Given the description of an element on the screen output the (x, y) to click on. 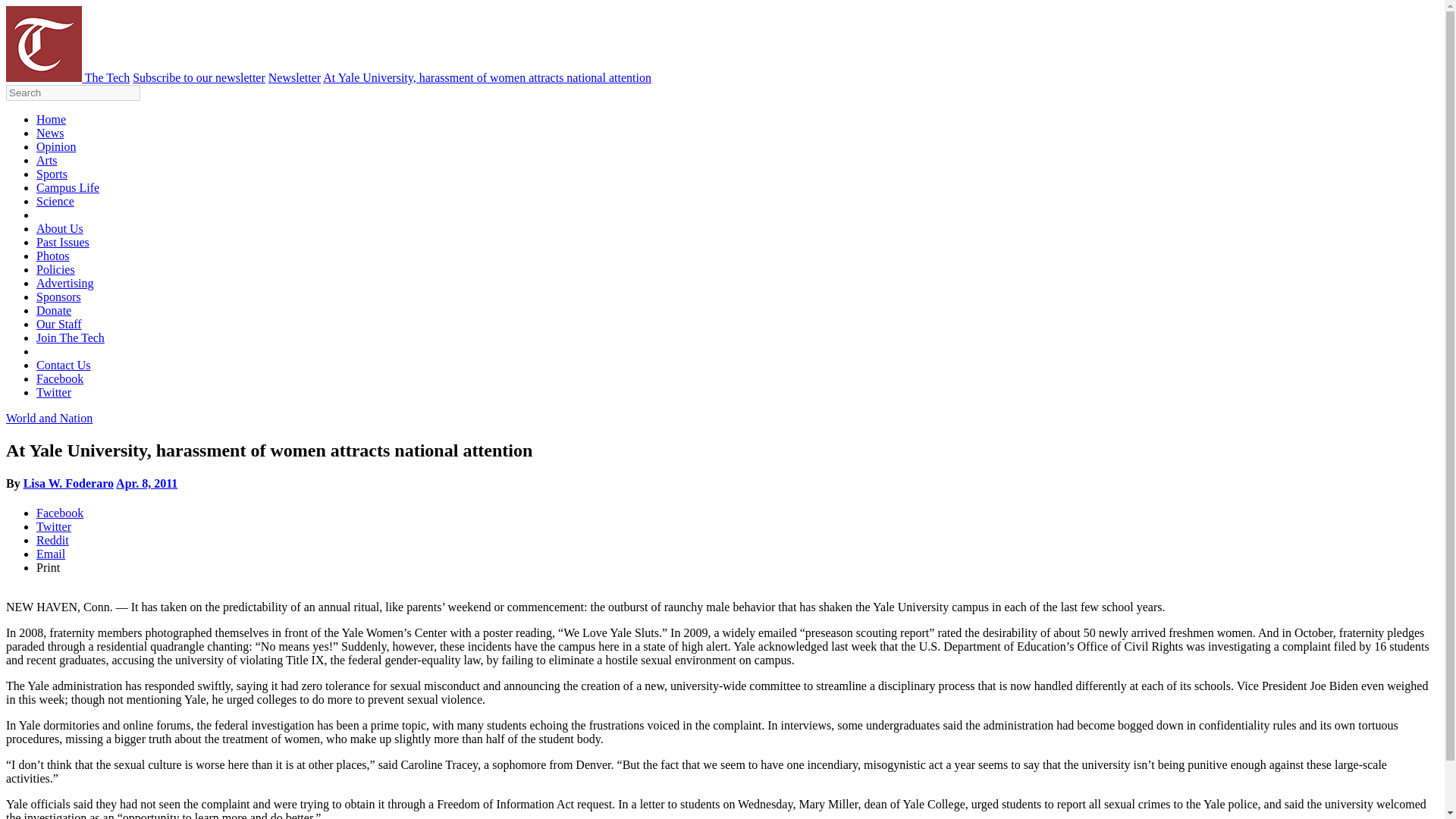
Print (343, 357)
Twitter (343, 227)
Reddit (343, 270)
Email (343, 313)
Facebook (343, 190)
WORLD AND NATION (341, 62)
Subscribe to our newsletter (1316, 17)
Apr. 8, 2011 (441, 142)
Lisa W. Foderaro (342, 142)
